Given the description of an element on the screen output the (x, y) to click on. 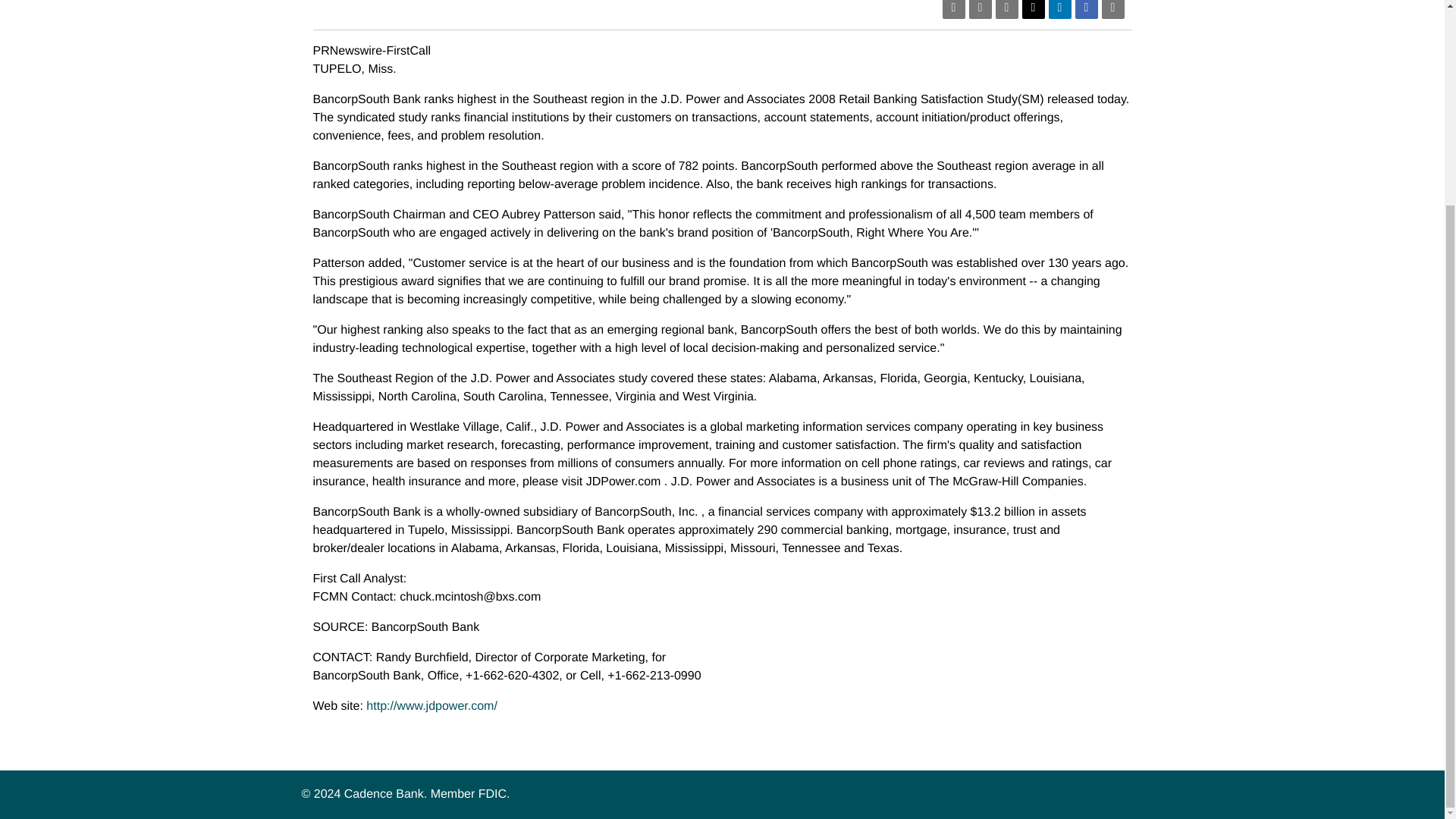
Linkedin Share (1059, 9)
pdf (952, 9)
print (1112, 9)
Facebook Share (1086, 9)
email (1005, 9)
rss (980, 9)
Twitter Share (1033, 9)
